Given the description of an element on the screen output the (x, y) to click on. 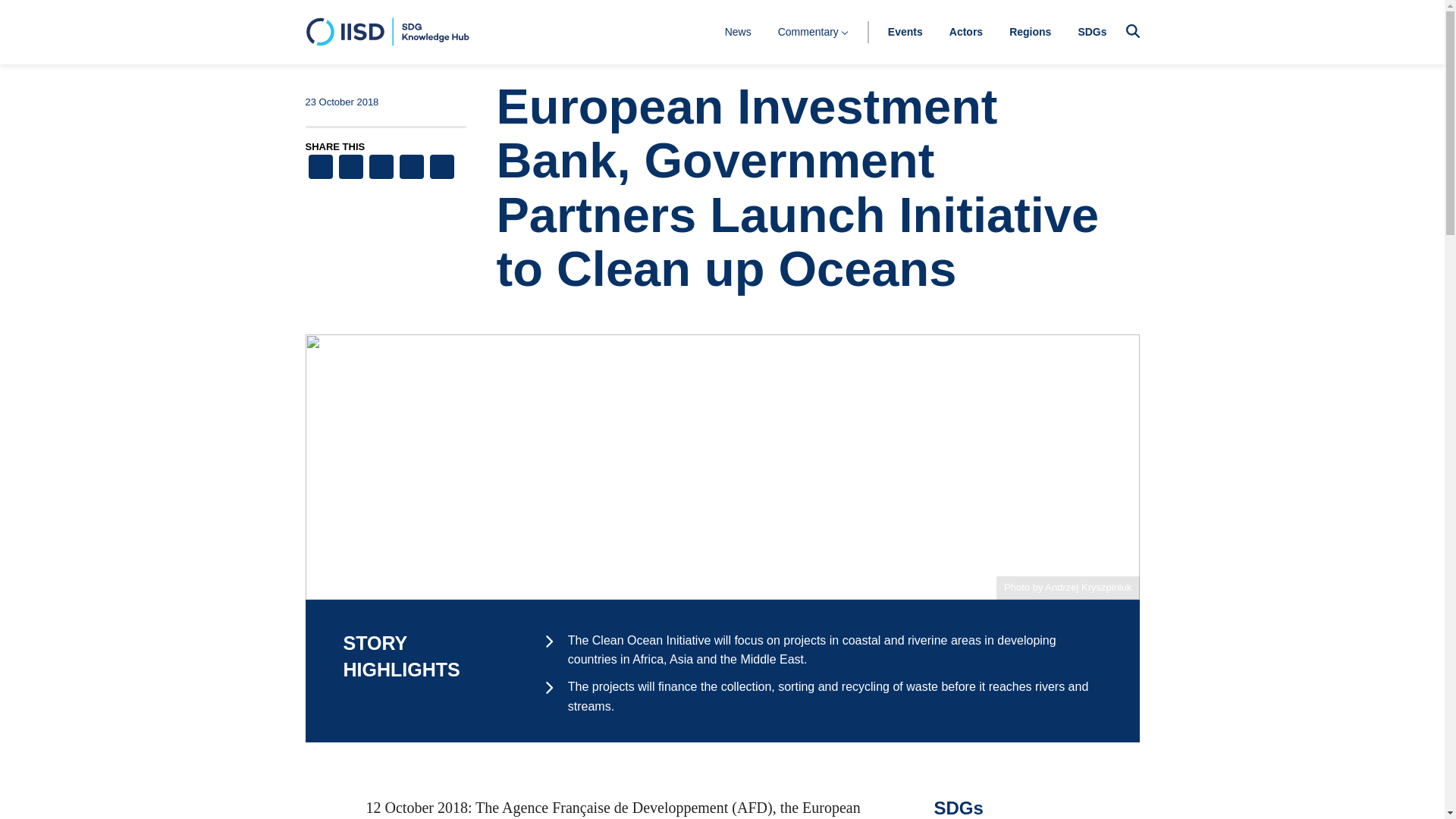
LinkedIn (411, 168)
LinkedIn (411, 168)
Pinterest (380, 168)
Events (905, 31)
Facebook (319, 168)
Facebook (319, 168)
Commentary (812, 31)
SDGs (1091, 31)
Pinterest (380, 168)
Regions (1030, 31)
